Given the description of an element on the screen output the (x, y) to click on. 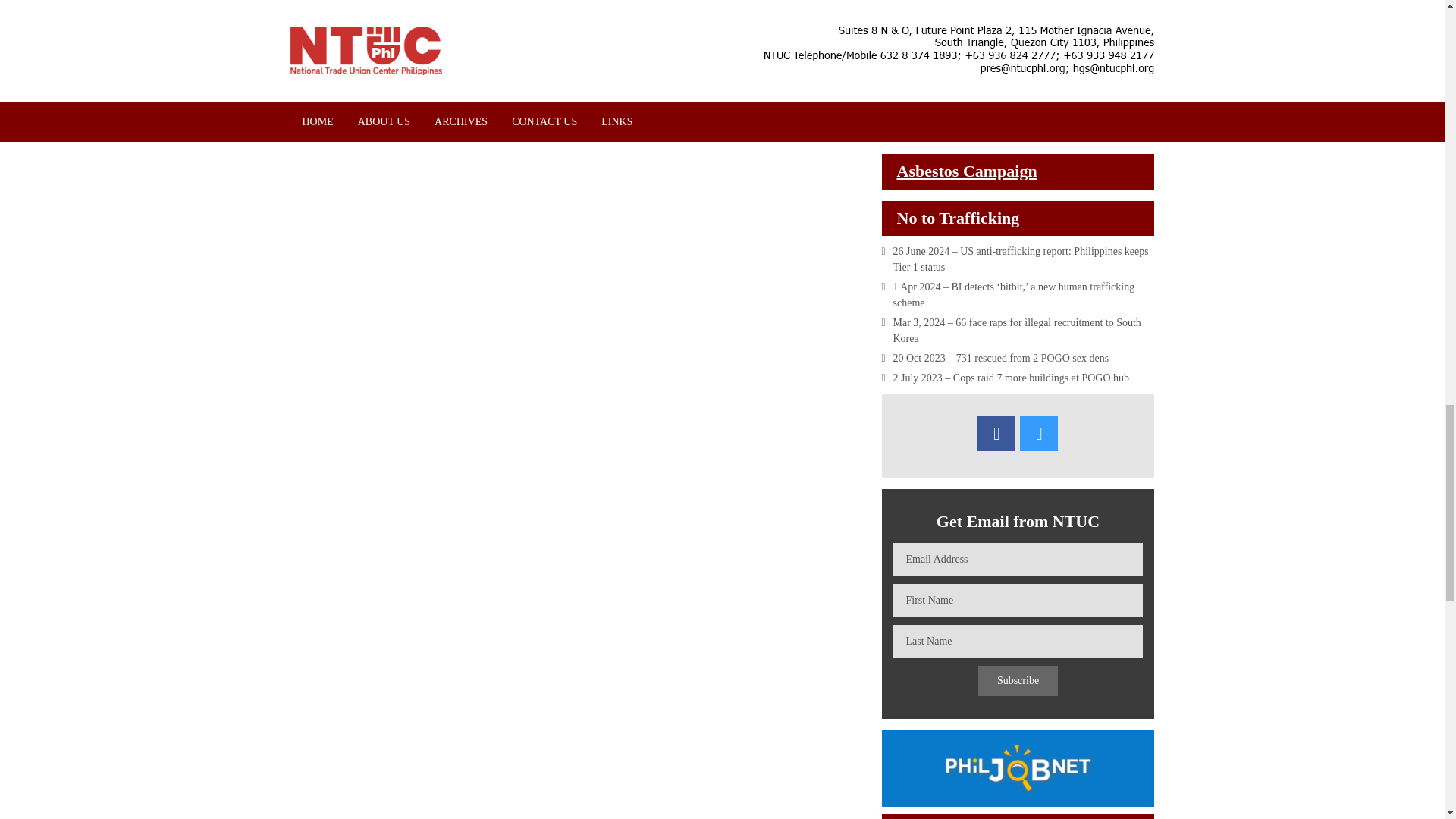
Asbestos Campaign (966, 170)
Subscribe (1018, 680)
